Given the description of an element on the screen output the (x, y) to click on. 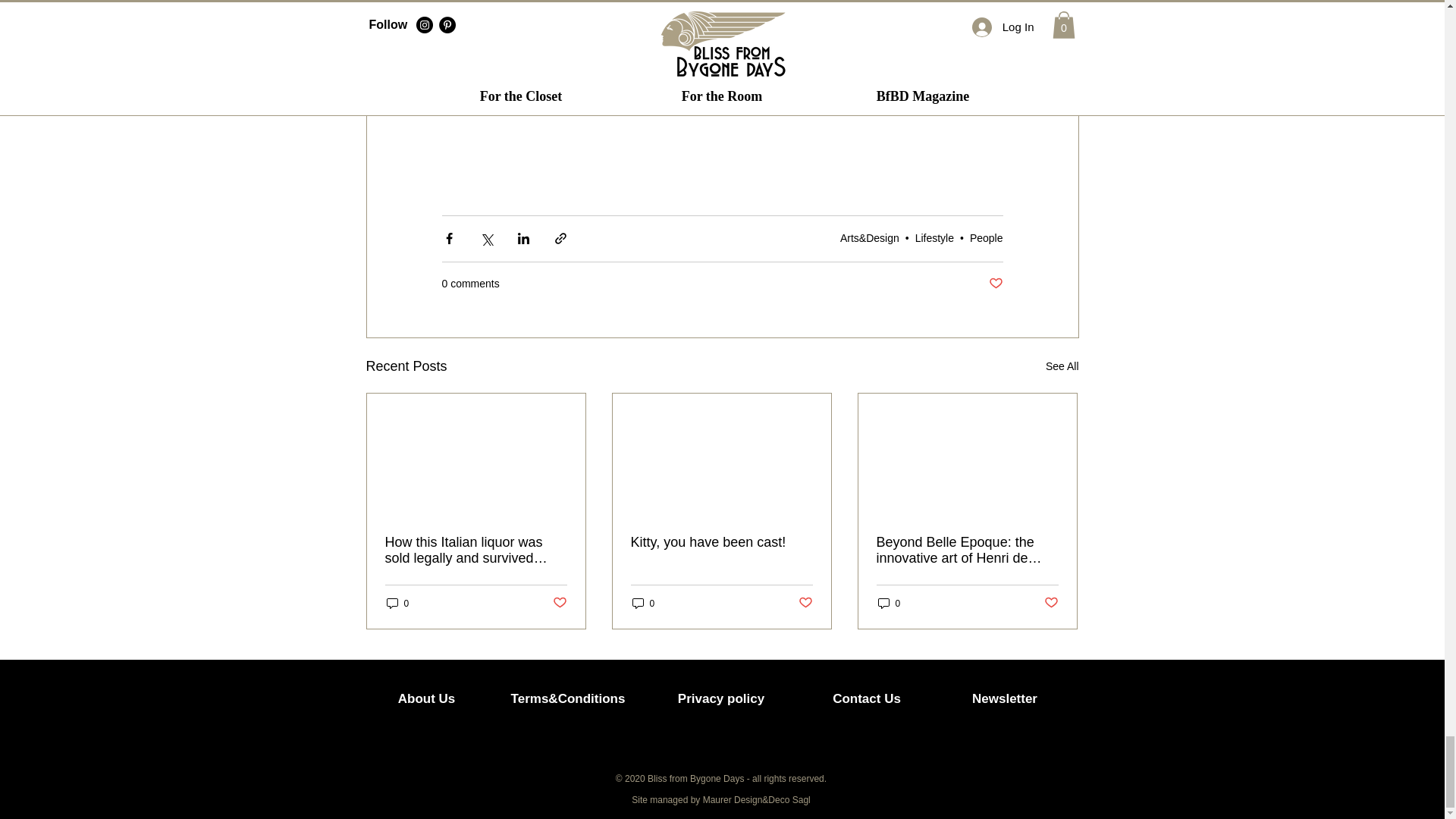
Lifestyle (934, 237)
Post not marked as liked (804, 602)
People (986, 237)
0 (889, 603)
0 (643, 603)
0 (397, 603)
Post not marked as liked (995, 283)
Kitty, you have been cast! (721, 542)
Post not marked as liked (558, 602)
See All (1061, 366)
